Given the description of an element on the screen output the (x, y) to click on. 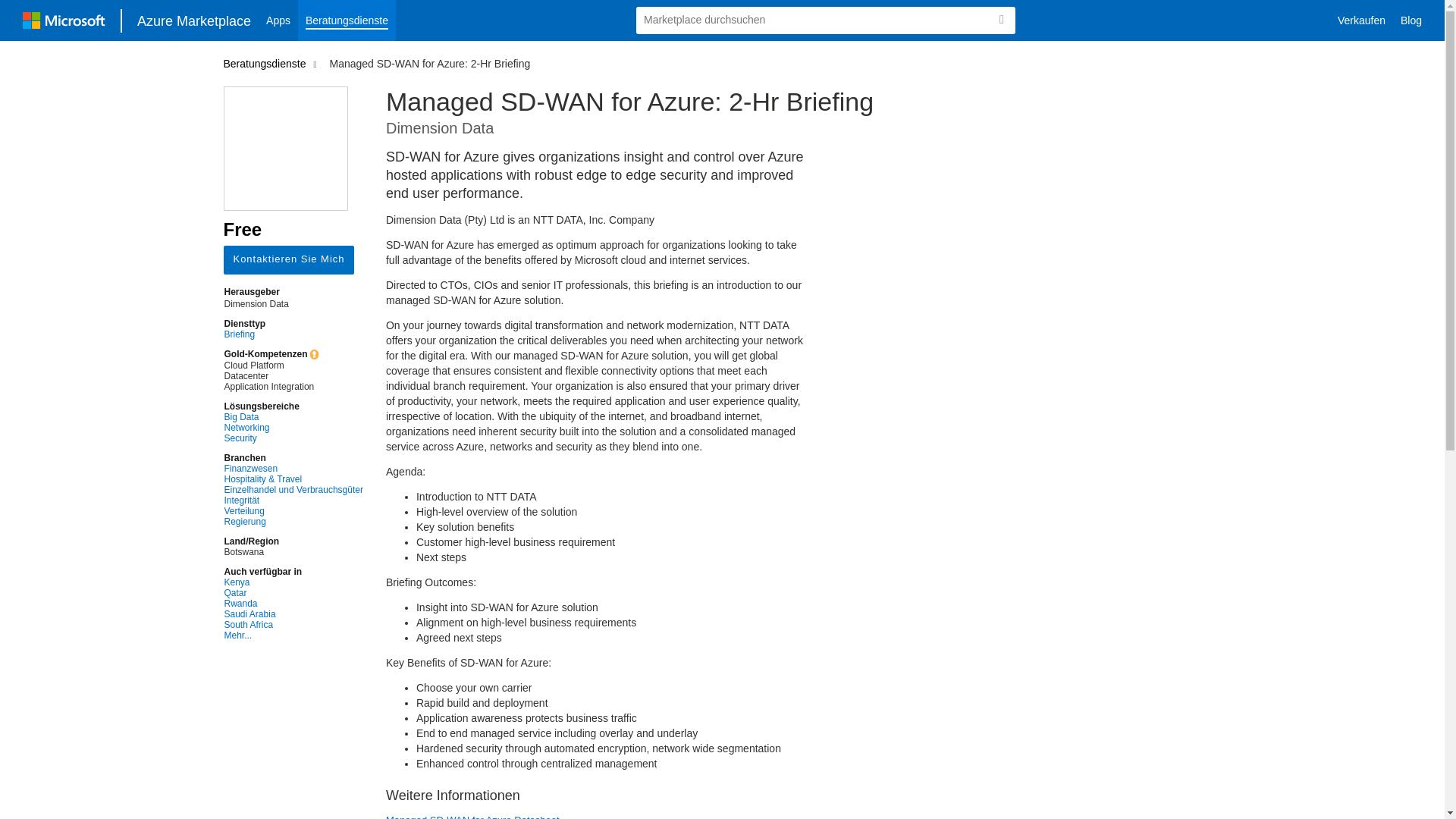
Regierung (293, 521)
Azure Marketplace (194, 20)
Kenya (293, 582)
Search (1001, 19)
Finanzwesen (293, 468)
Networking (293, 427)
Kontaktieren Sie Mich (287, 259)
Security (293, 438)
South Africa (293, 624)
Qatar (293, 593)
Apps (278, 20)
Beratungsdienste (347, 20)
Briefing (293, 334)
Saudi Arabia (293, 614)
Big Data (293, 416)
